Given the description of an element on the screen output the (x, y) to click on. 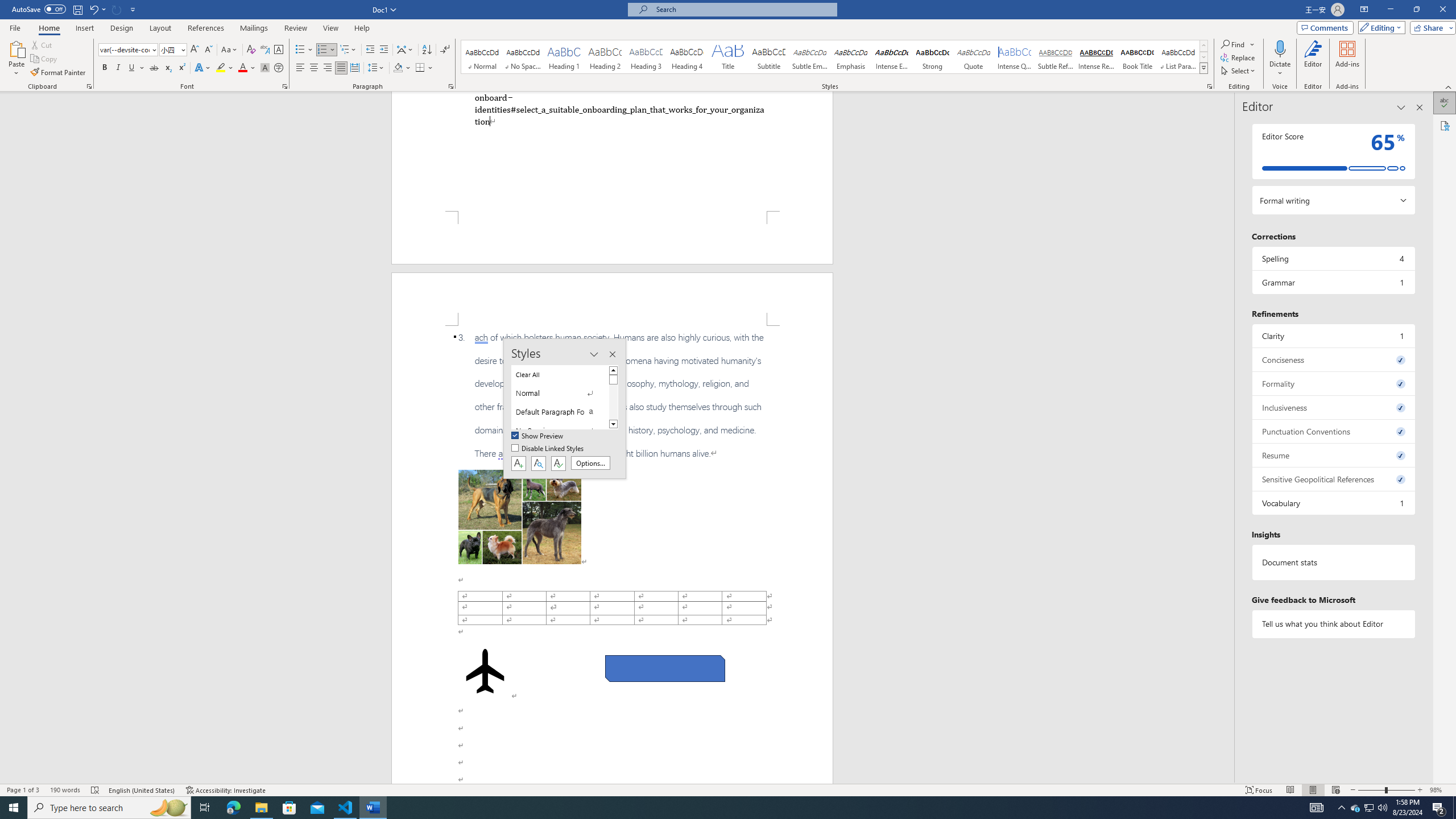
Subtle Reference (1055, 56)
Paragraph... (450, 85)
Font Color (246, 67)
Asian Layout (405, 49)
Change Case (229, 49)
Subtle Emphasis (809, 56)
Class: NetUIButton (558, 463)
Font (128, 49)
Numbering (326, 49)
Task Pane Options (1400, 107)
Shading RGB(0, 0, 0) (397, 67)
Heading 3 (646, 56)
Class: NetUIScrollBar (1229, 437)
